Given the description of an element on the screen output the (x, y) to click on. 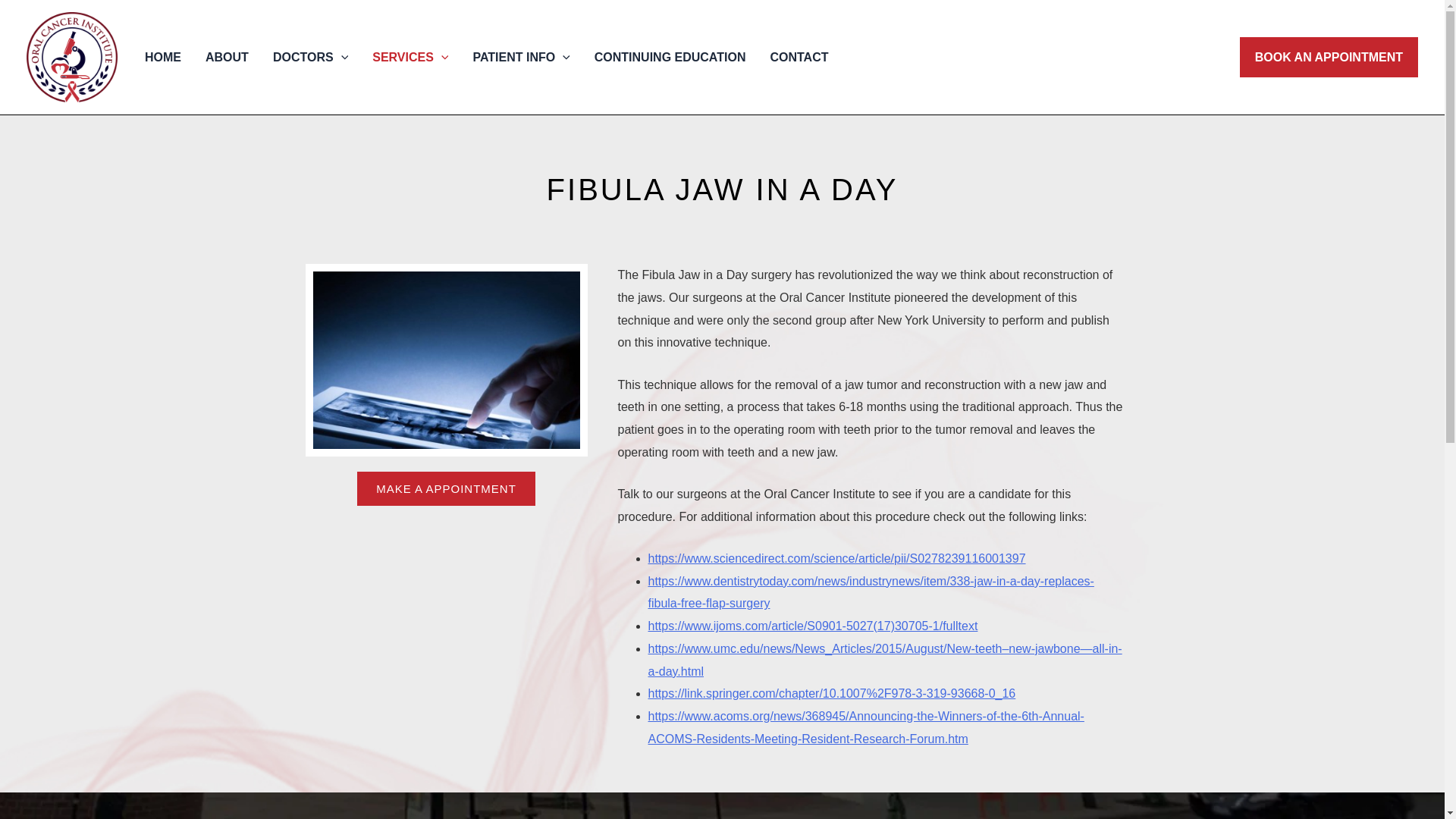
PATIENT INFO (520, 57)
SERVICES (409, 57)
DOCTORS (309, 57)
HOME (162, 57)
BOOK AN APPOINTMENT (1329, 56)
CONTACT (798, 57)
Fibula jaw in a day (445, 359)
ABOUT (226, 57)
CONTINUING EDUCATION (670, 57)
